Given the description of an element on the screen output the (x, y) to click on. 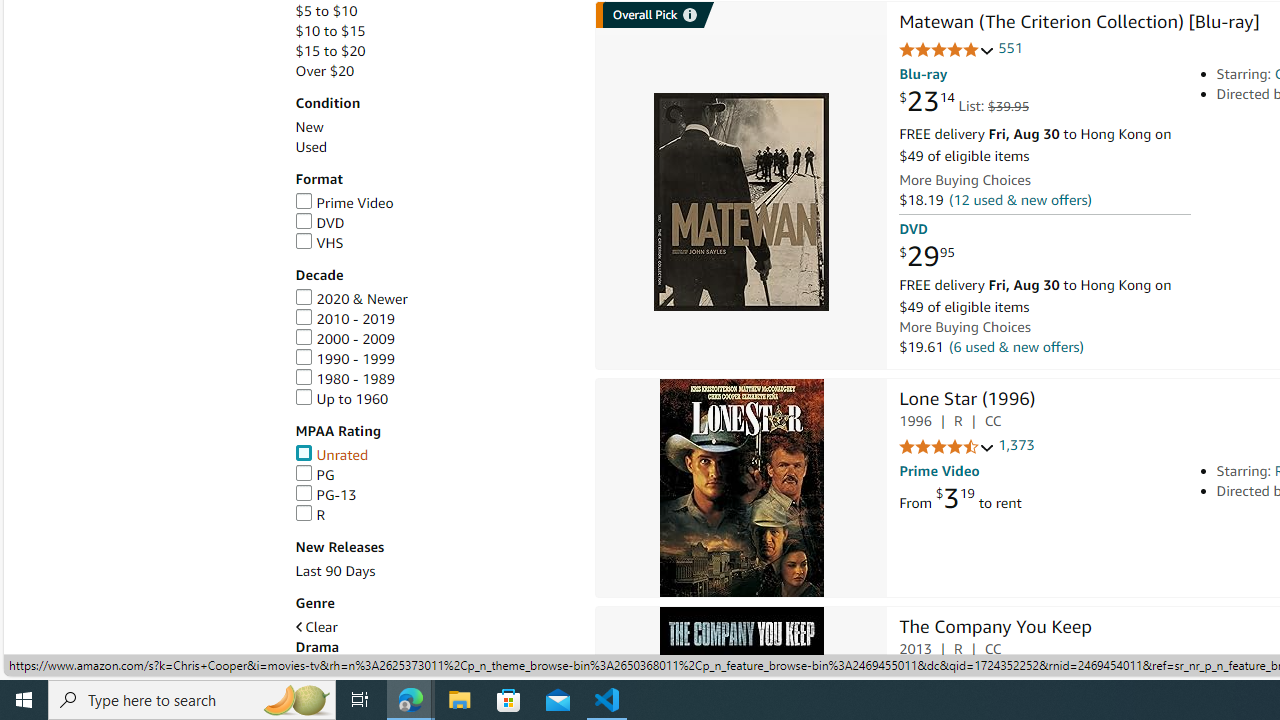
Blu-ray (923, 74)
(6 used & new offers) (1016, 347)
$10 to $15 (434, 31)
2010 - 2019 (434, 319)
$10 to $15 (330, 31)
PG-13 (434, 494)
Prime Video (344, 202)
$15 to $20 (330, 51)
551 (1010, 48)
New (434, 127)
Clear (315, 627)
PG-13 (325, 494)
Over $20 (324, 70)
Unrated (434, 455)
